Given the description of an element on the screen output the (x, y) to click on. 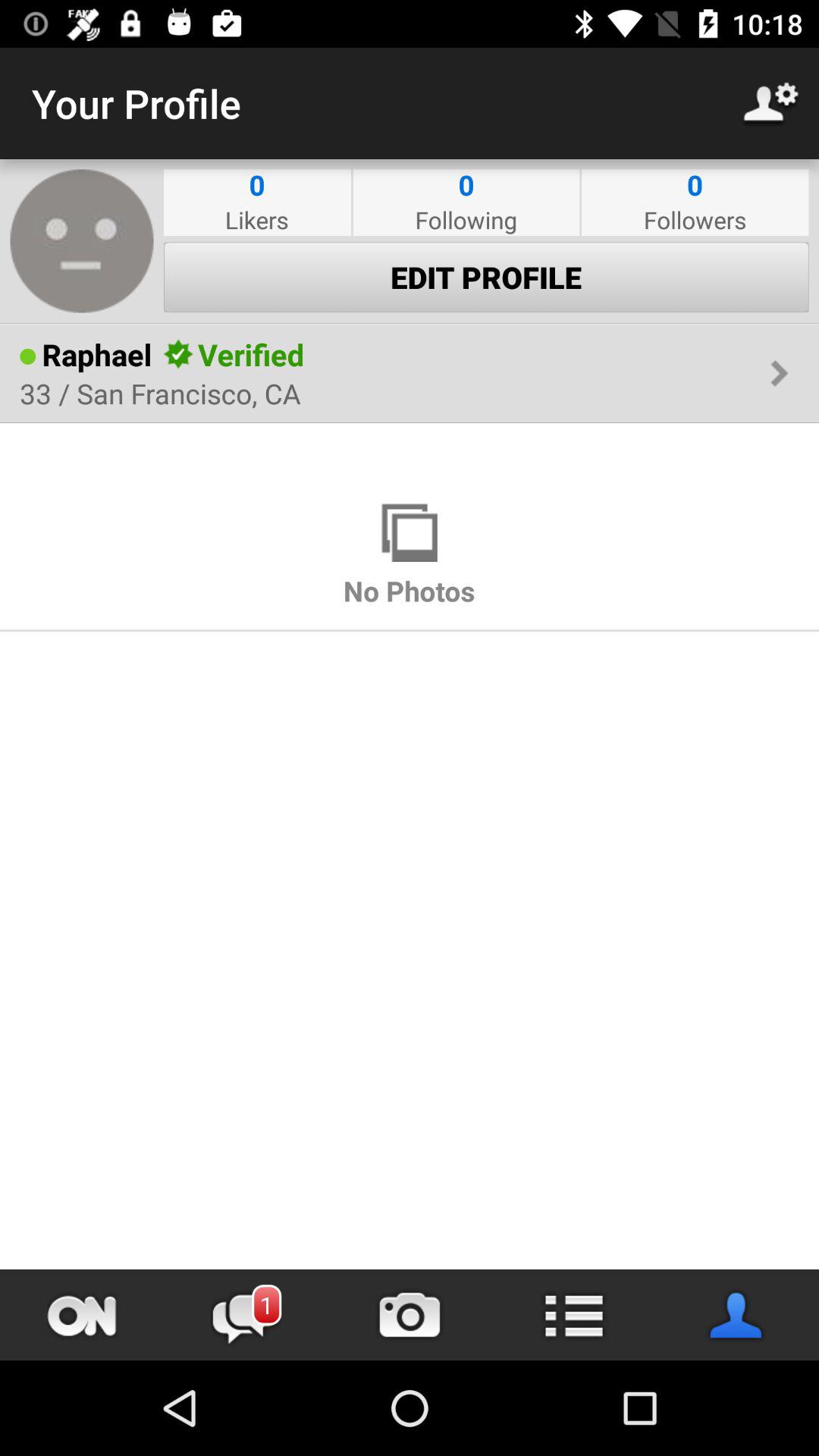
scroll until verified item (250, 354)
